Given the description of an element on the screen output the (x, y) to click on. 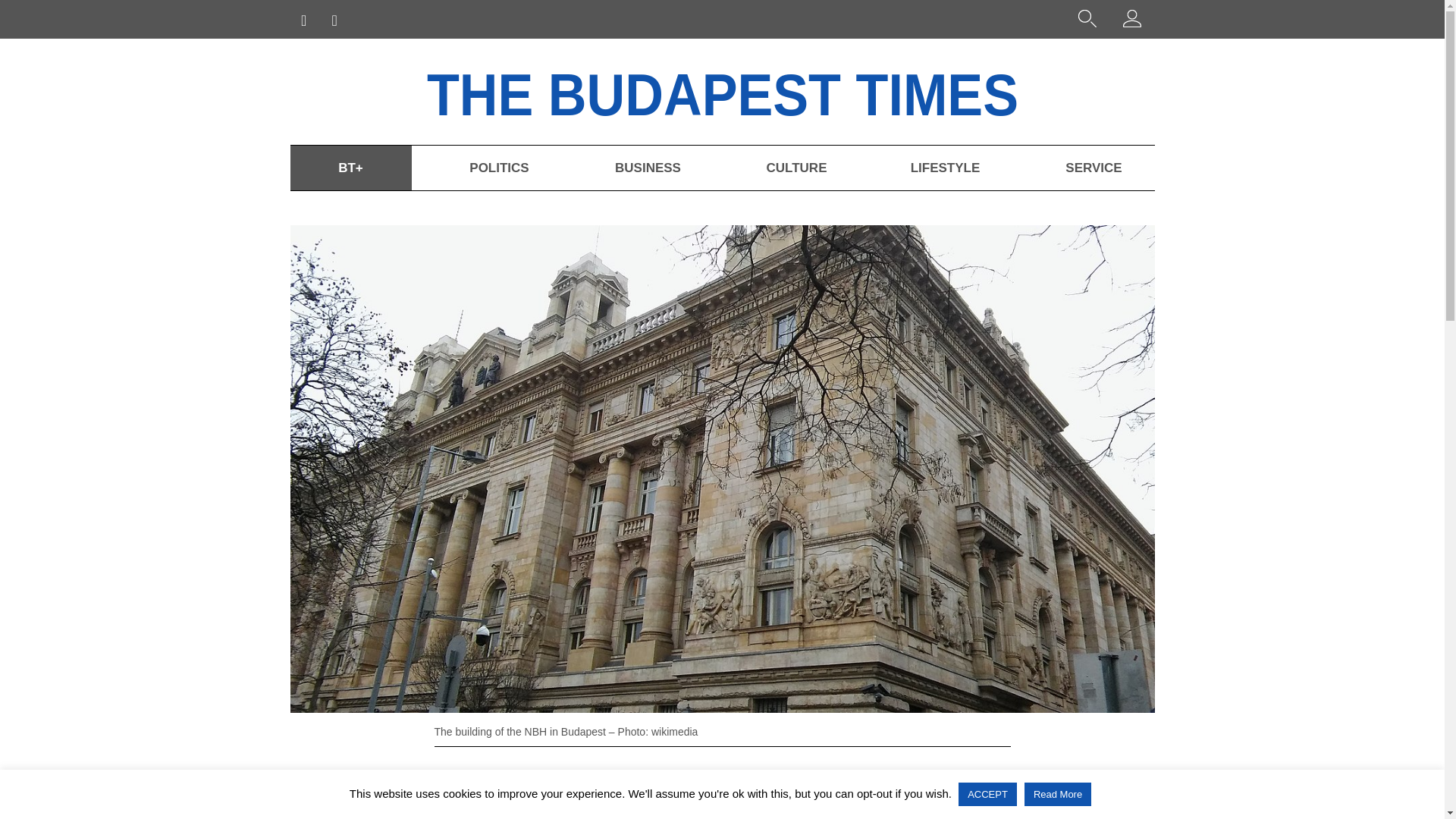
Login (1131, 20)
Facebook (352, 790)
BUSINESS (646, 167)
SERVICE (1093, 167)
CULTURE (796, 167)
THE BUDAPEST TIMES (765, 91)
LIFESTYLE (944, 167)
POLITICS (498, 167)
